Given the description of an element on the screen output the (x, y) to click on. 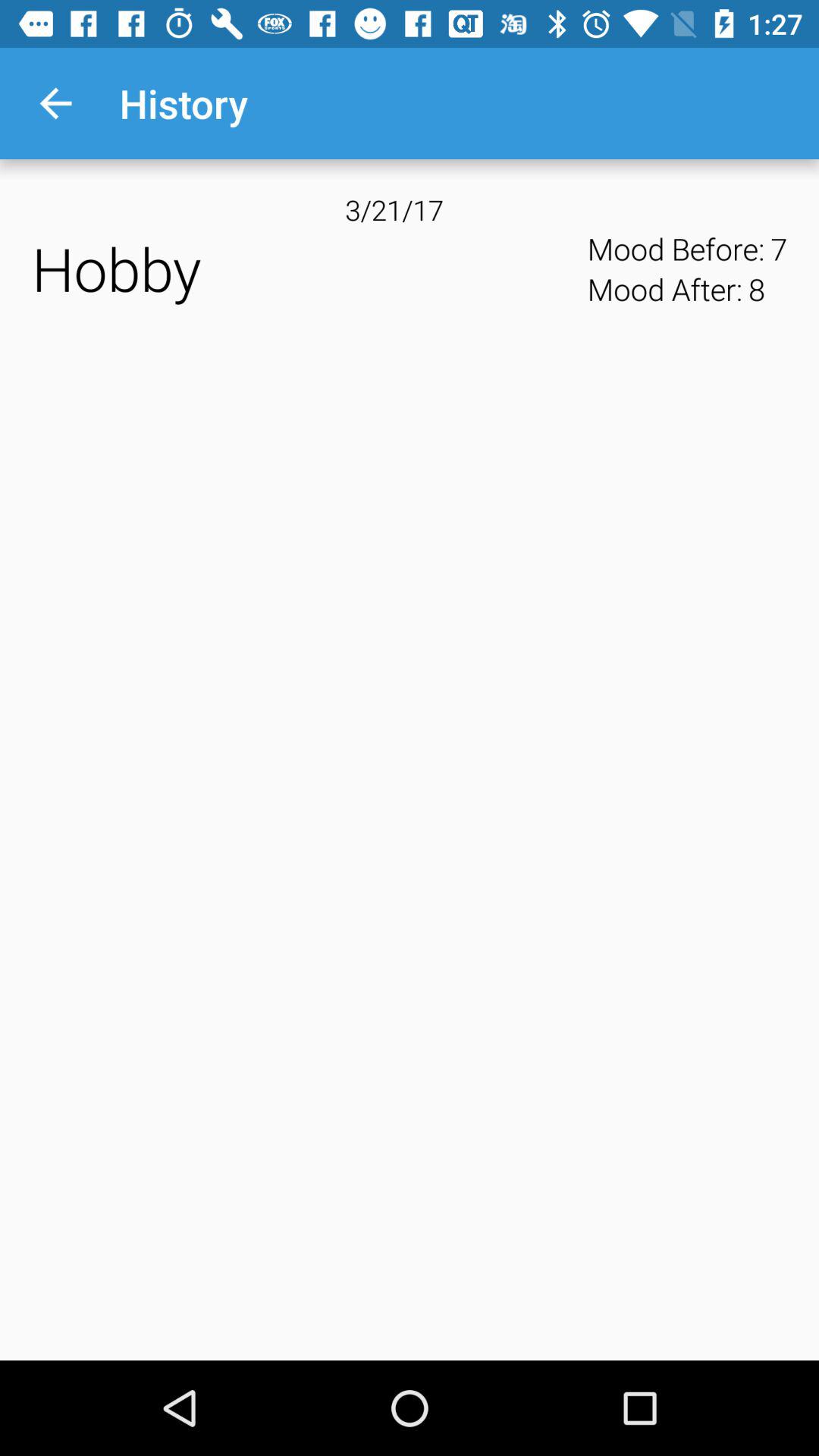
open item below 3/21/17 icon (304, 268)
